Given the description of an element on the screen output the (x, y) to click on. 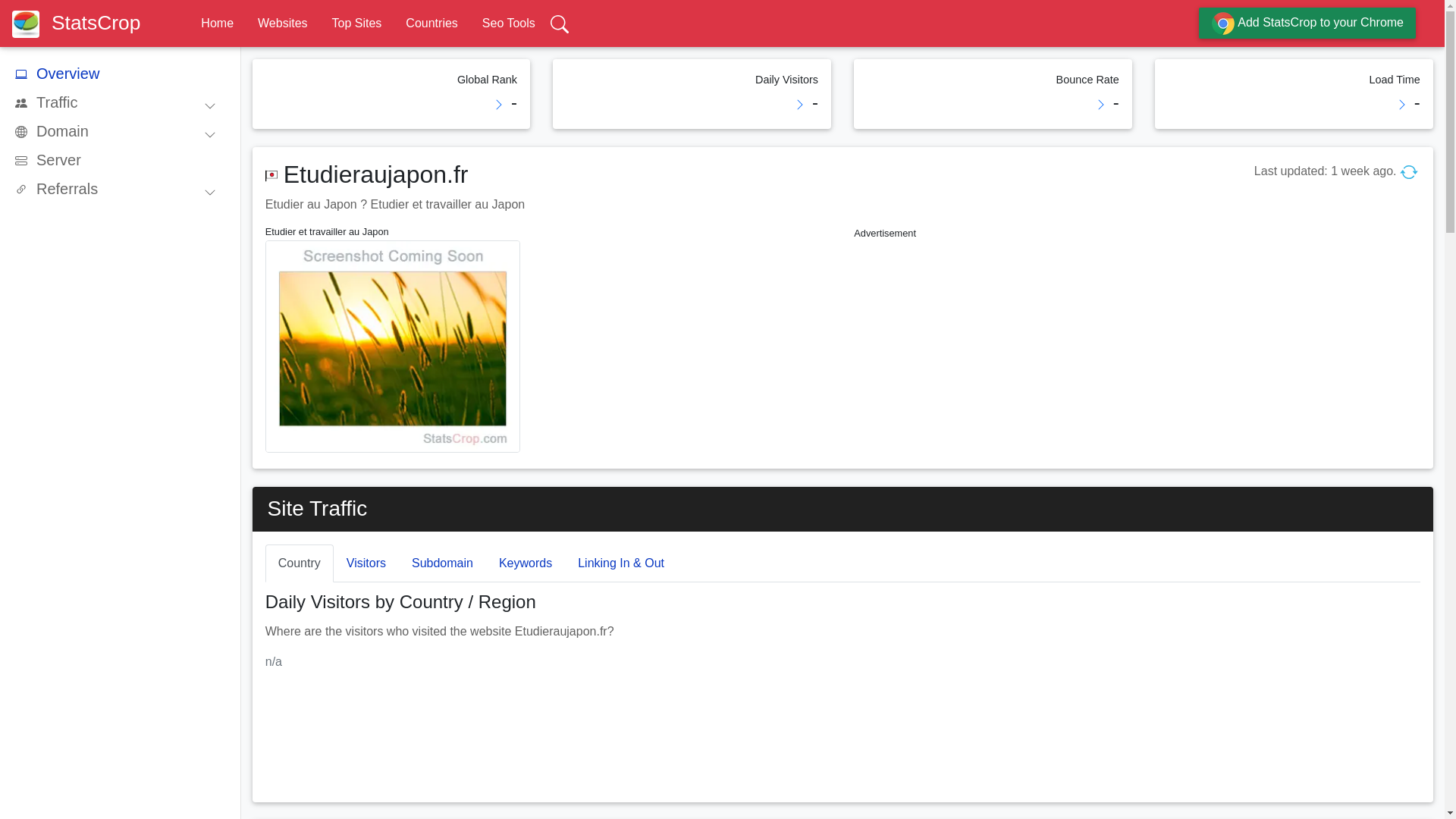
Add StatsCrop to your Chrome (1306, 22)
Server (121, 159)
Overview (121, 72)
Top Sites (356, 22)
Etudier et travailler au Japon (391, 231)
Advertisement (1136, 349)
Websites (282, 22)
Referrals (121, 188)
Home (216, 22)
StatsCrop (81, 22)
Etudieraujapon.fr (375, 174)
Subdomain (442, 563)
Add StatsCrop to your Chrome (1306, 22)
Keywords (525, 563)
Countries (431, 22)
